Given the description of an element on the screen output the (x, y) to click on. 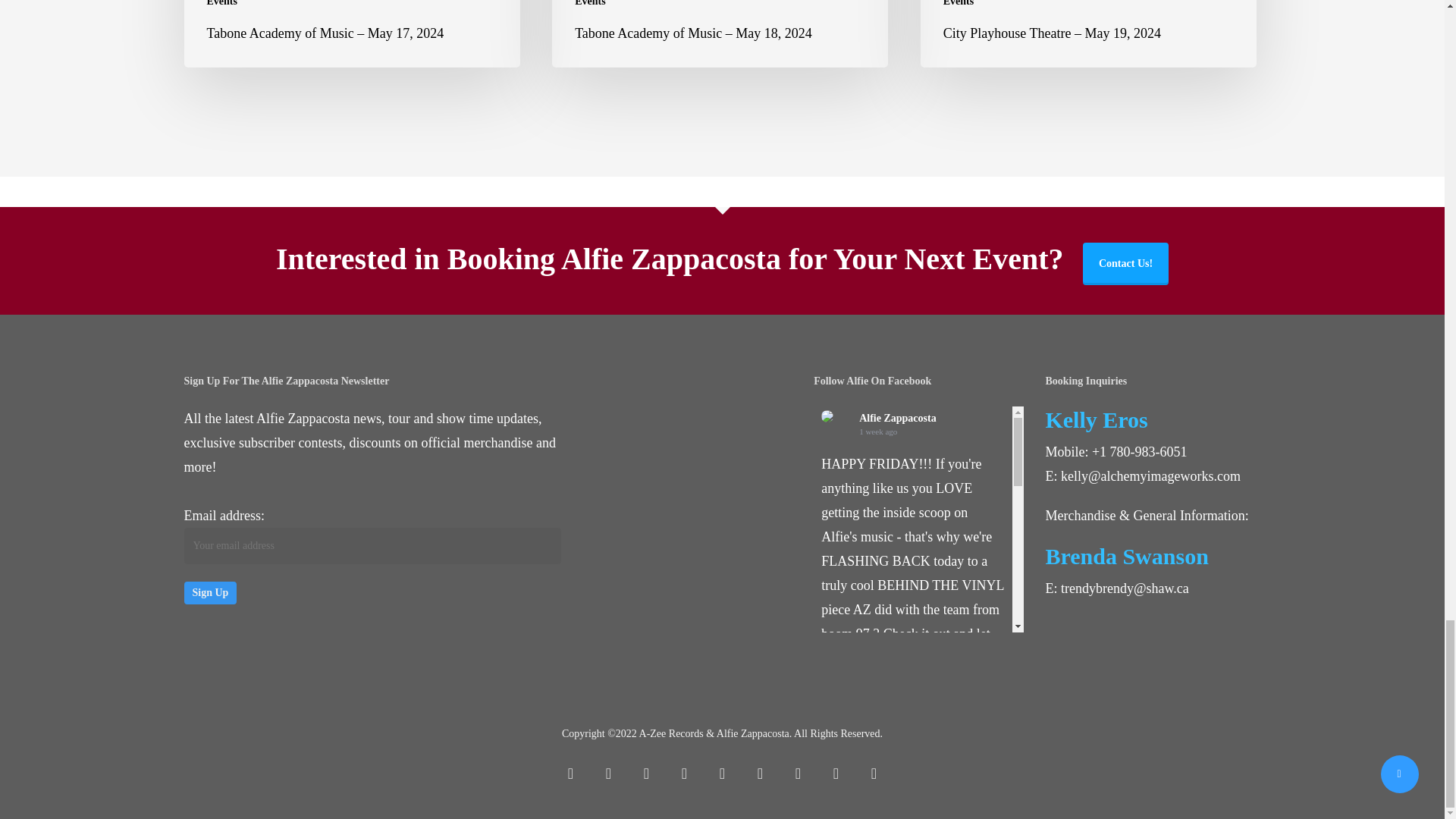
Sign up (209, 592)
Alfie Zappacosta (826, 416)
